Given the description of an element on the screen output the (x, y) to click on. 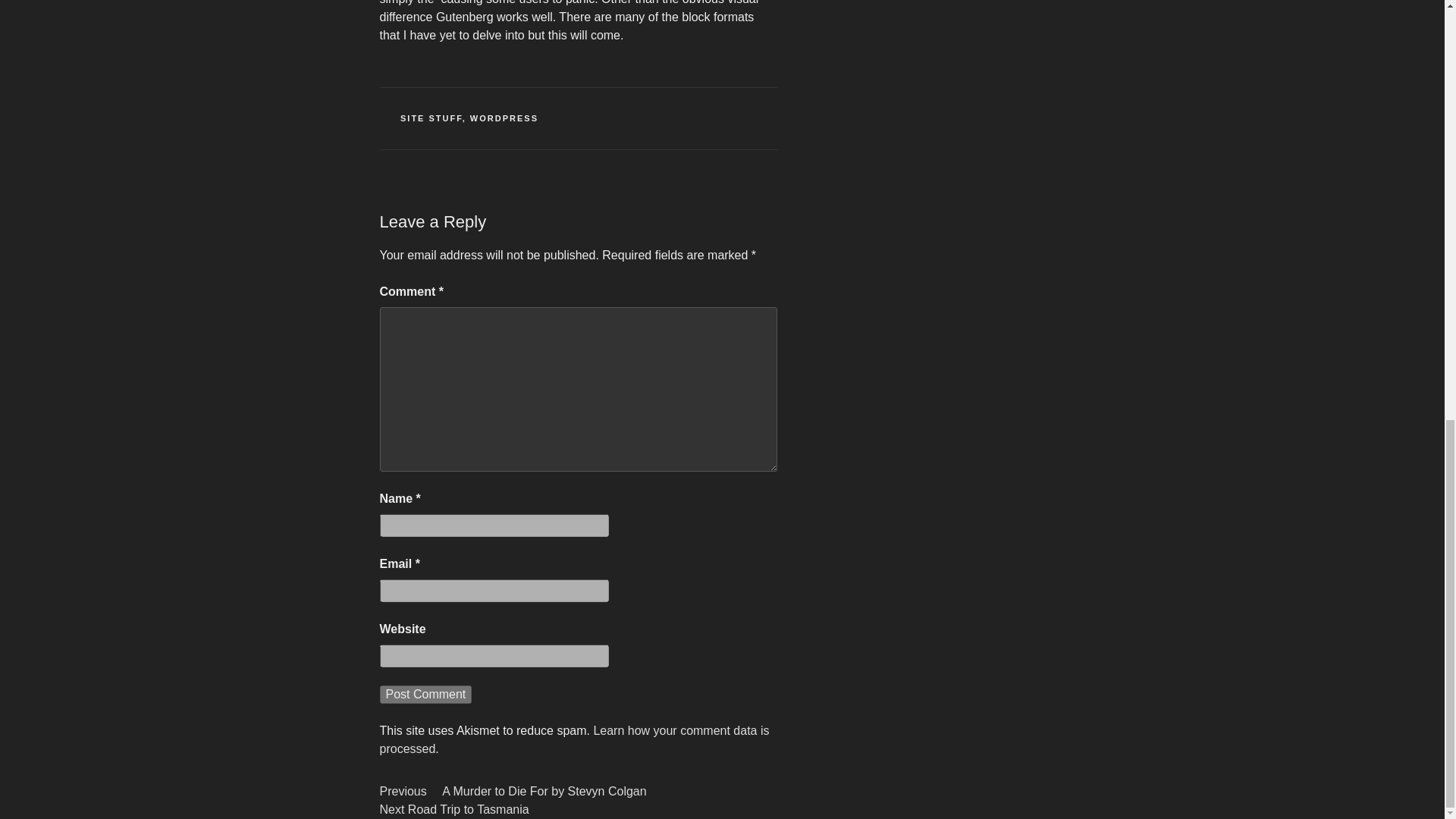
Post Comment (459, 809)
Post Comment (424, 694)
SITE STUFF (424, 694)
WORDPRESS (431, 117)
Learn how your comment data is processed (504, 117)
